Given the description of an element on the screen output the (x, y) to click on. 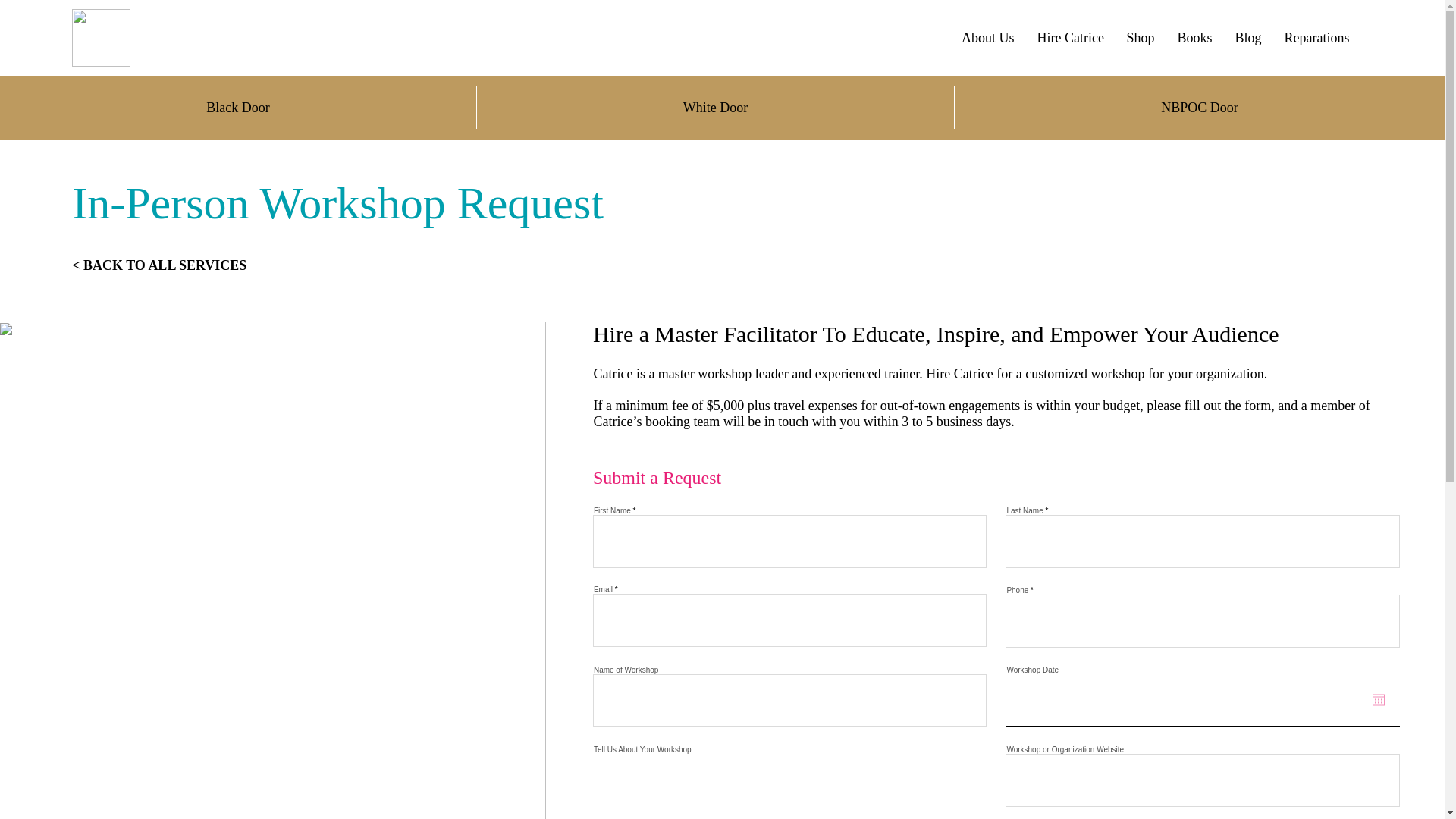
Blog (1248, 38)
White Door (715, 107)
Books (1195, 38)
Shop (1140, 38)
About Us (987, 38)
Reparations (1315, 38)
Black Door (238, 107)
Hire Catrice (1070, 38)
